Given the description of an element on the screen output the (x, y) to click on. 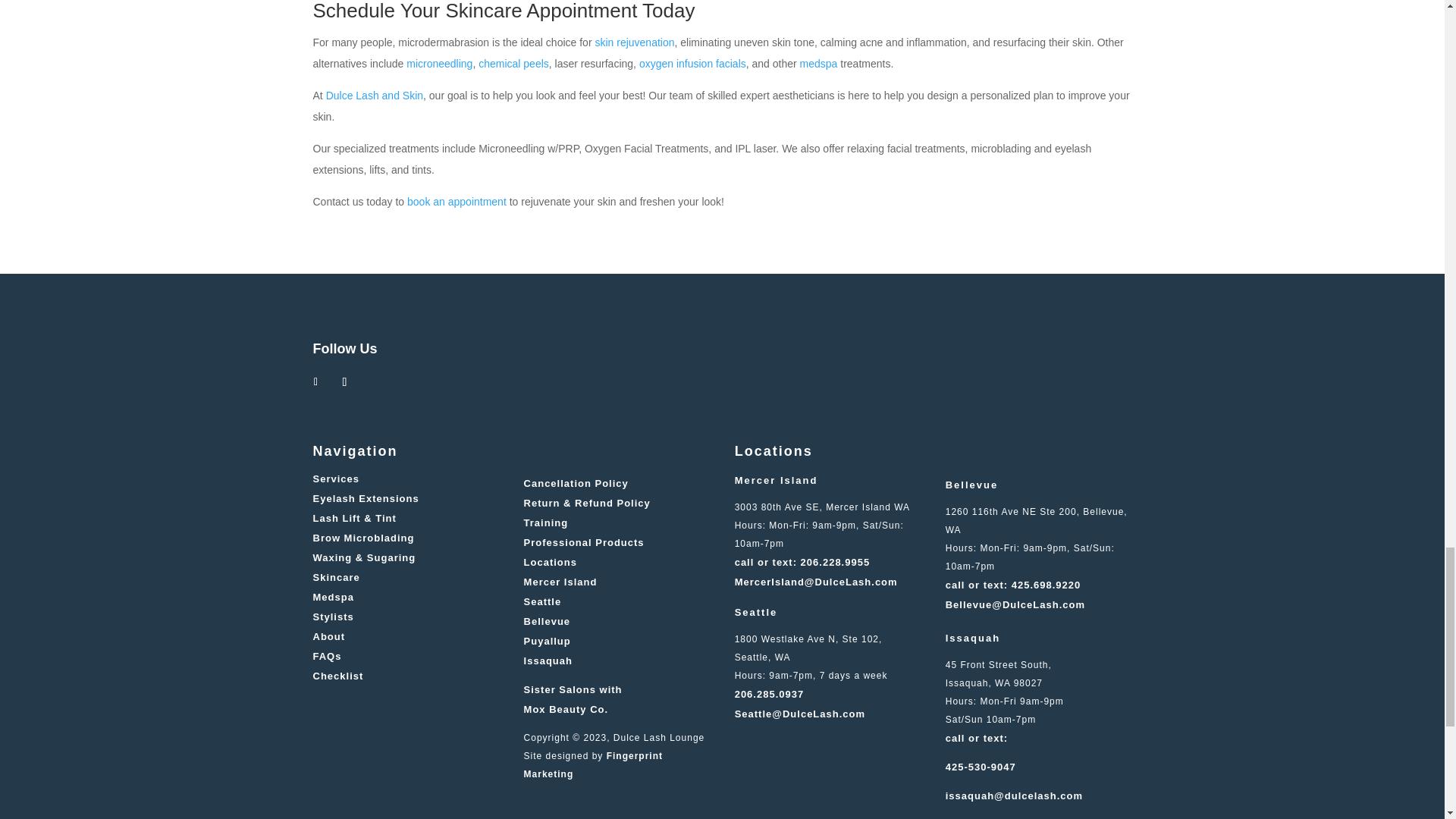
Follow on Facebook (315, 382)
Follow on Instagram (343, 381)
